Given the description of an element on the screen output the (x, y) to click on. 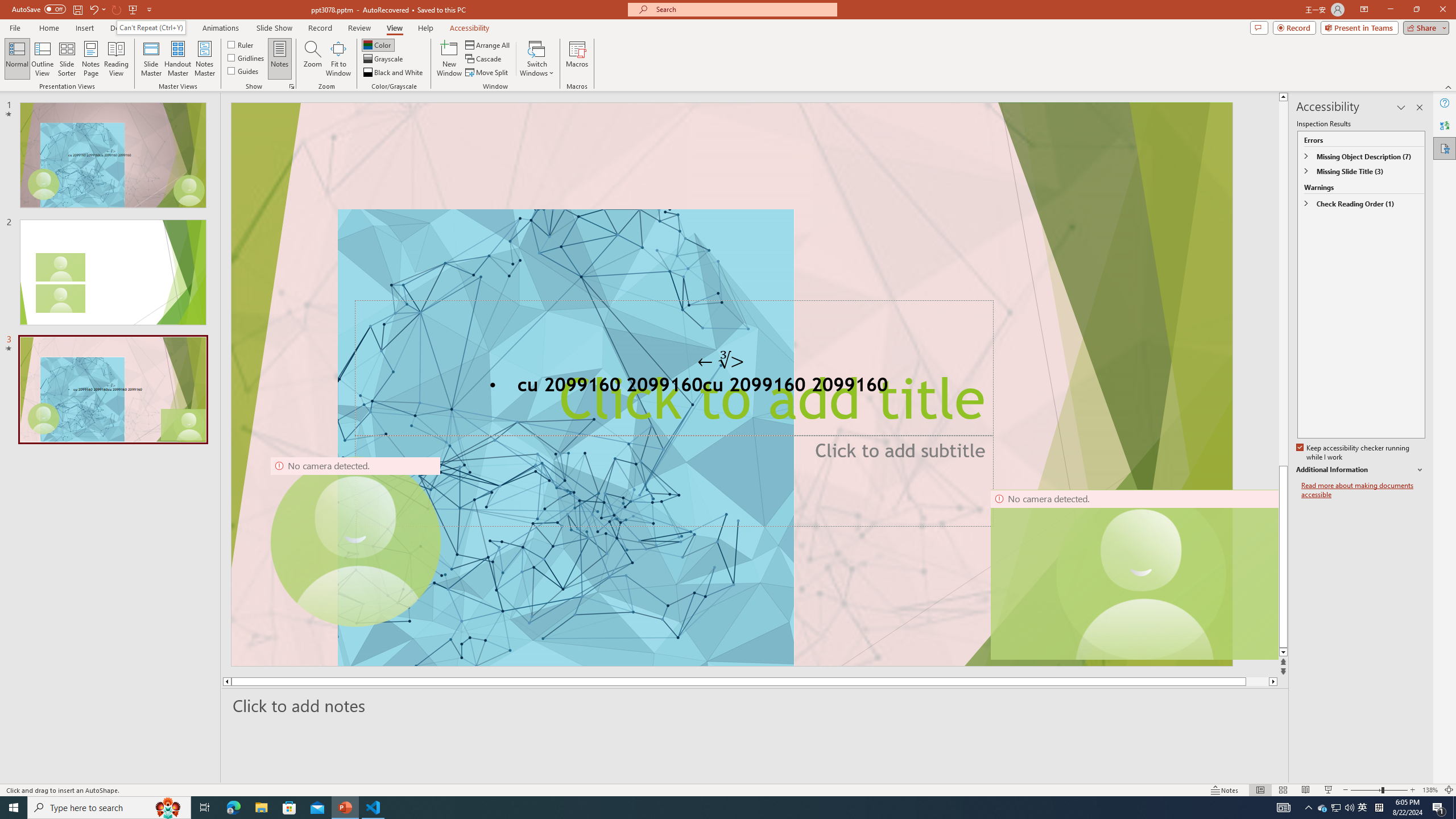
Black and White (393, 72)
Notes Master (204, 58)
Zoom 138% (1430, 790)
Ruler (241, 44)
